Given the description of an element on the screen output the (x, y) to click on. 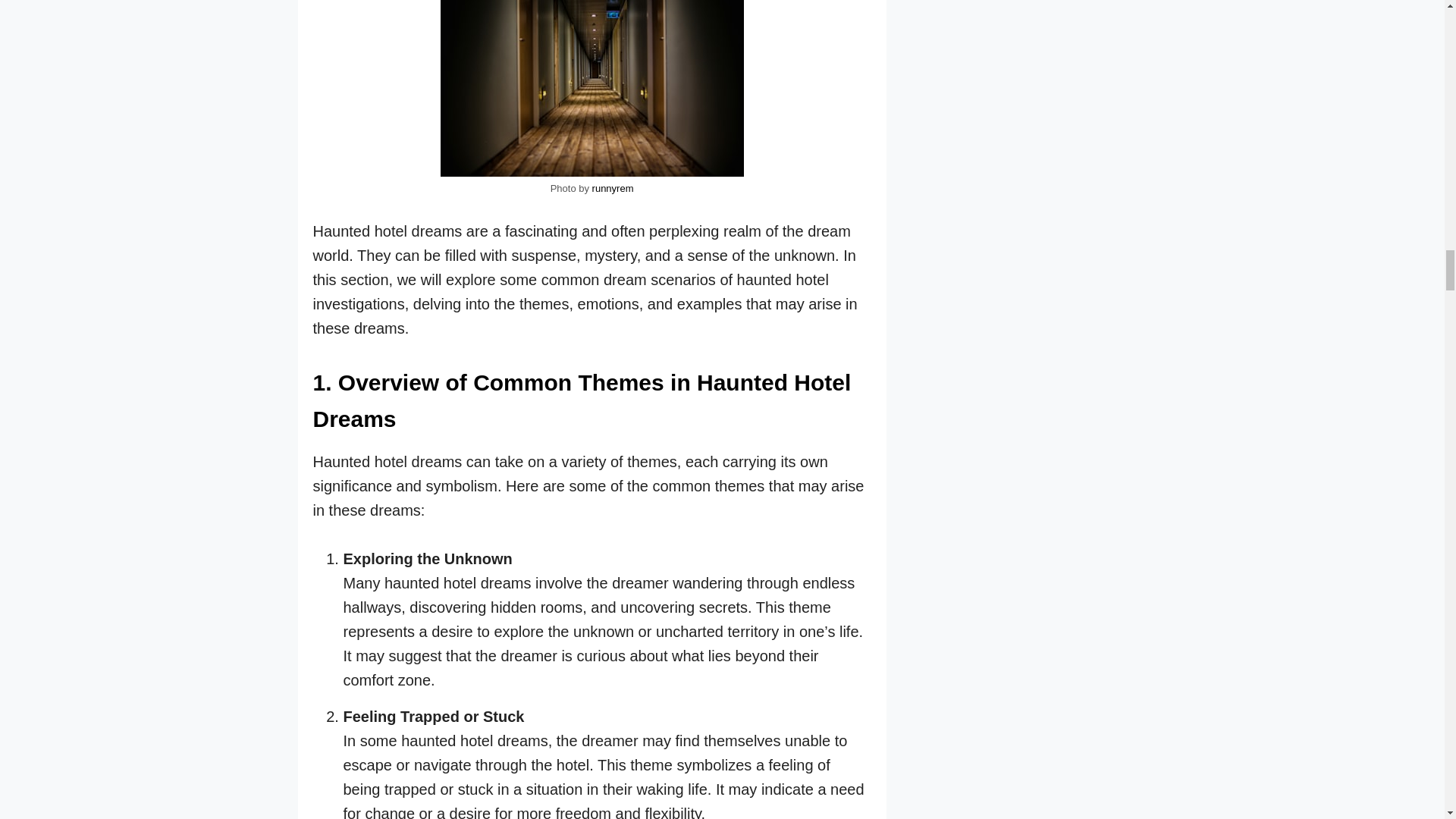
runnyrem (612, 188)
